Given the description of an element on the screen output the (x, y) to click on. 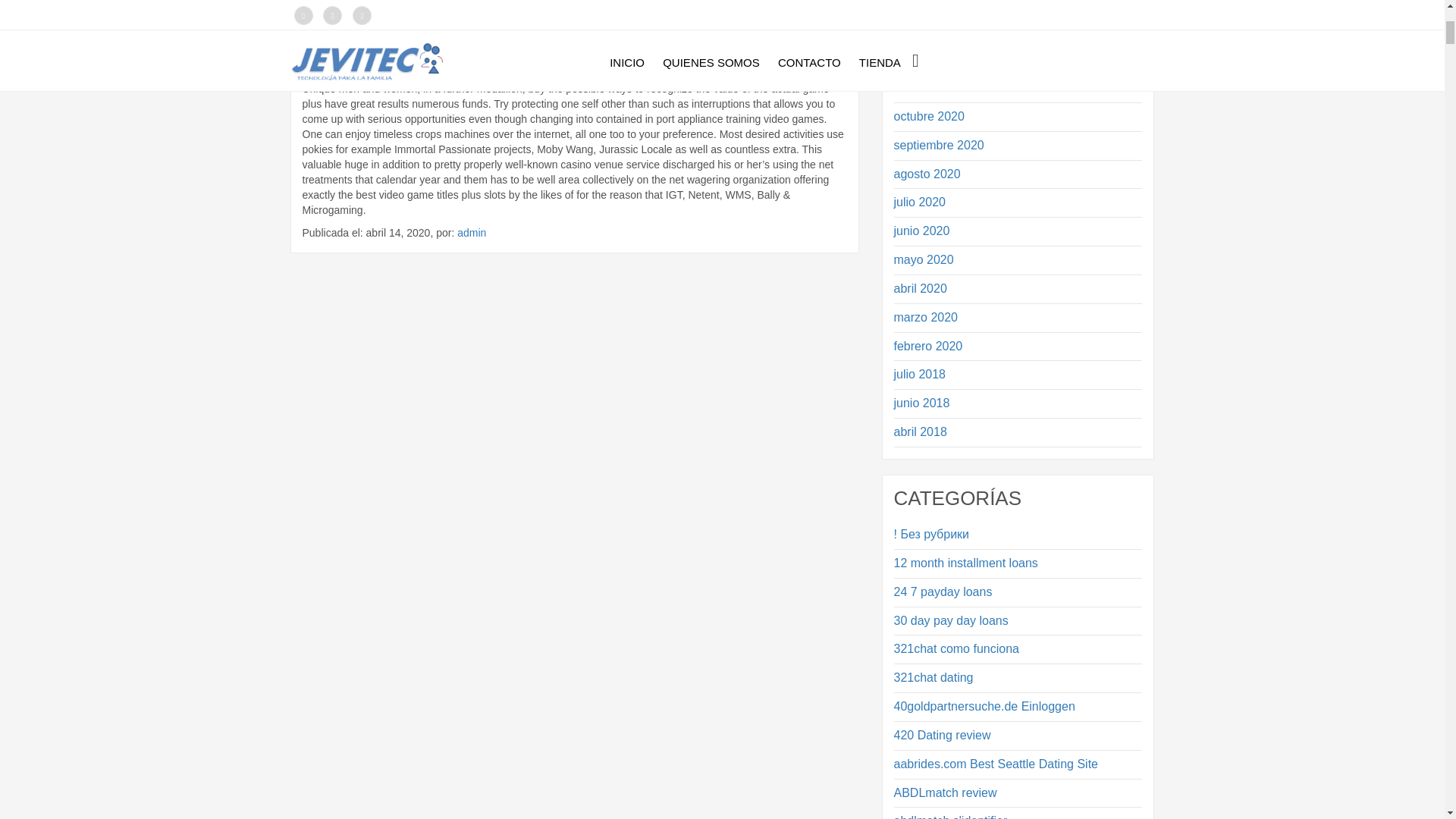
enero 2021 (1017, 30)
agosto 2020 (1017, 174)
abril 2020 (1017, 289)
febrero 2021 (1017, 7)
mayo 2020 (1017, 260)
admin (471, 232)
Entradas de admin (471, 232)
octubre 2020 (1017, 117)
septiembre 2020 (1017, 145)
noviembre 2020 (1017, 88)
